Given the description of an element on the screen output the (x, y) to click on. 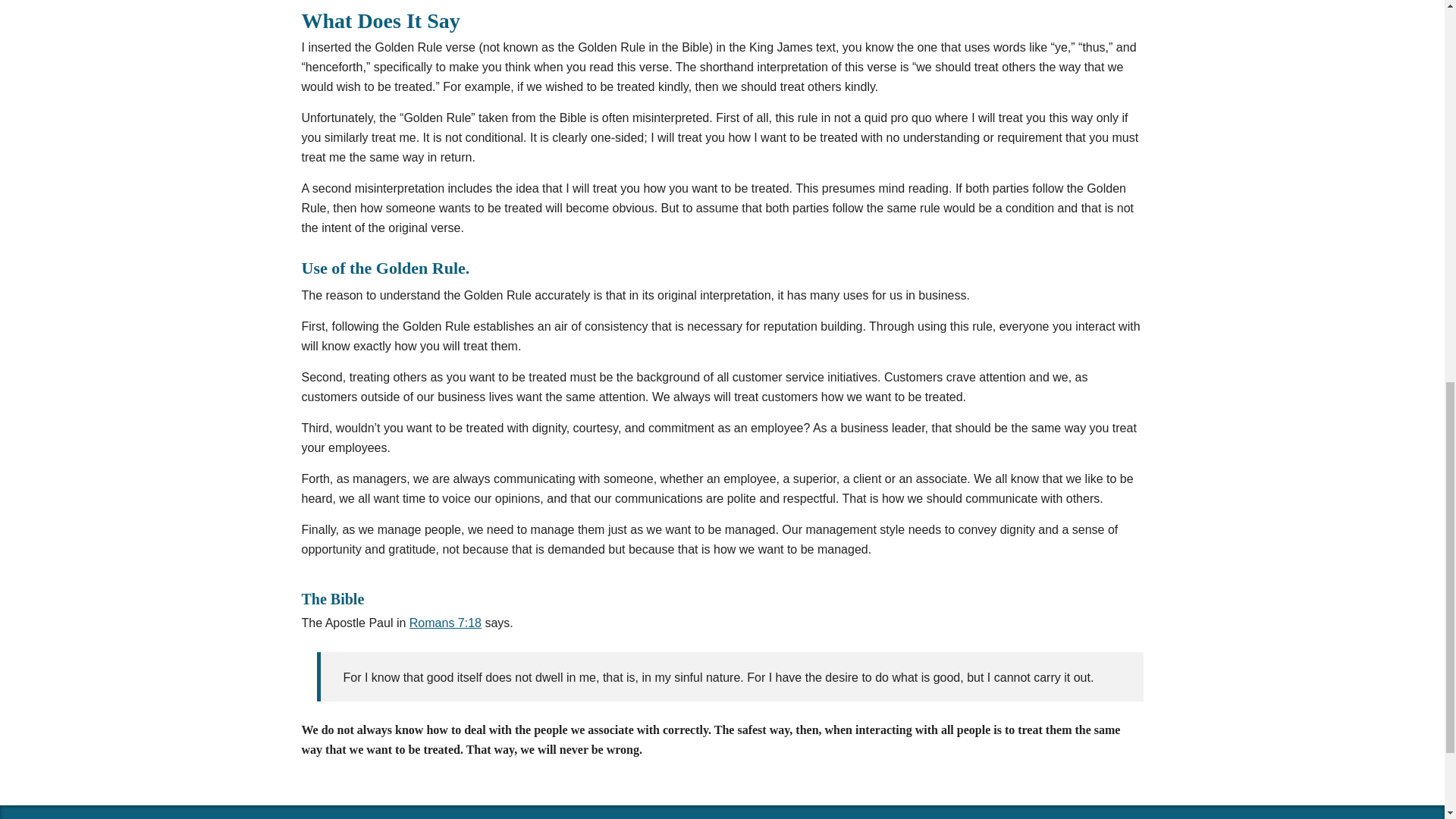
Romans 7:18 (445, 622)
